Given the description of an element on the screen output the (x, y) to click on. 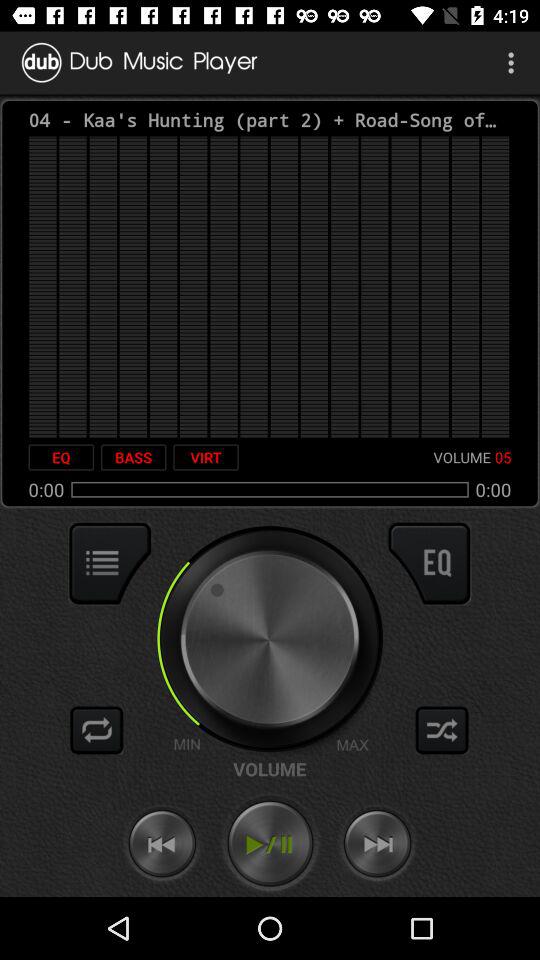
turn off the icon next to the  bass  item (61, 457)
